Given the description of an element on the screen output the (x, y) to click on. 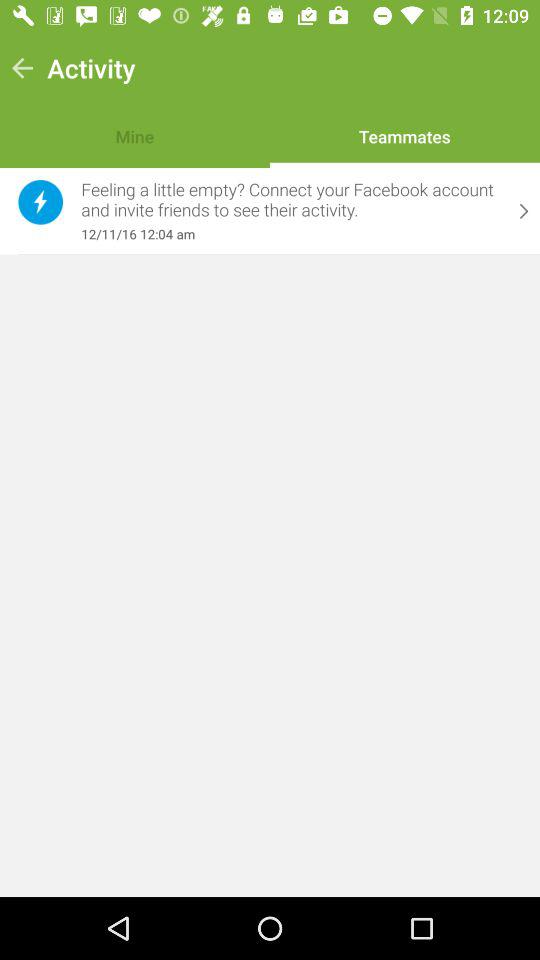
press 12 11 16 icon (291, 234)
